Given the description of an element on the screen output the (x, y) to click on. 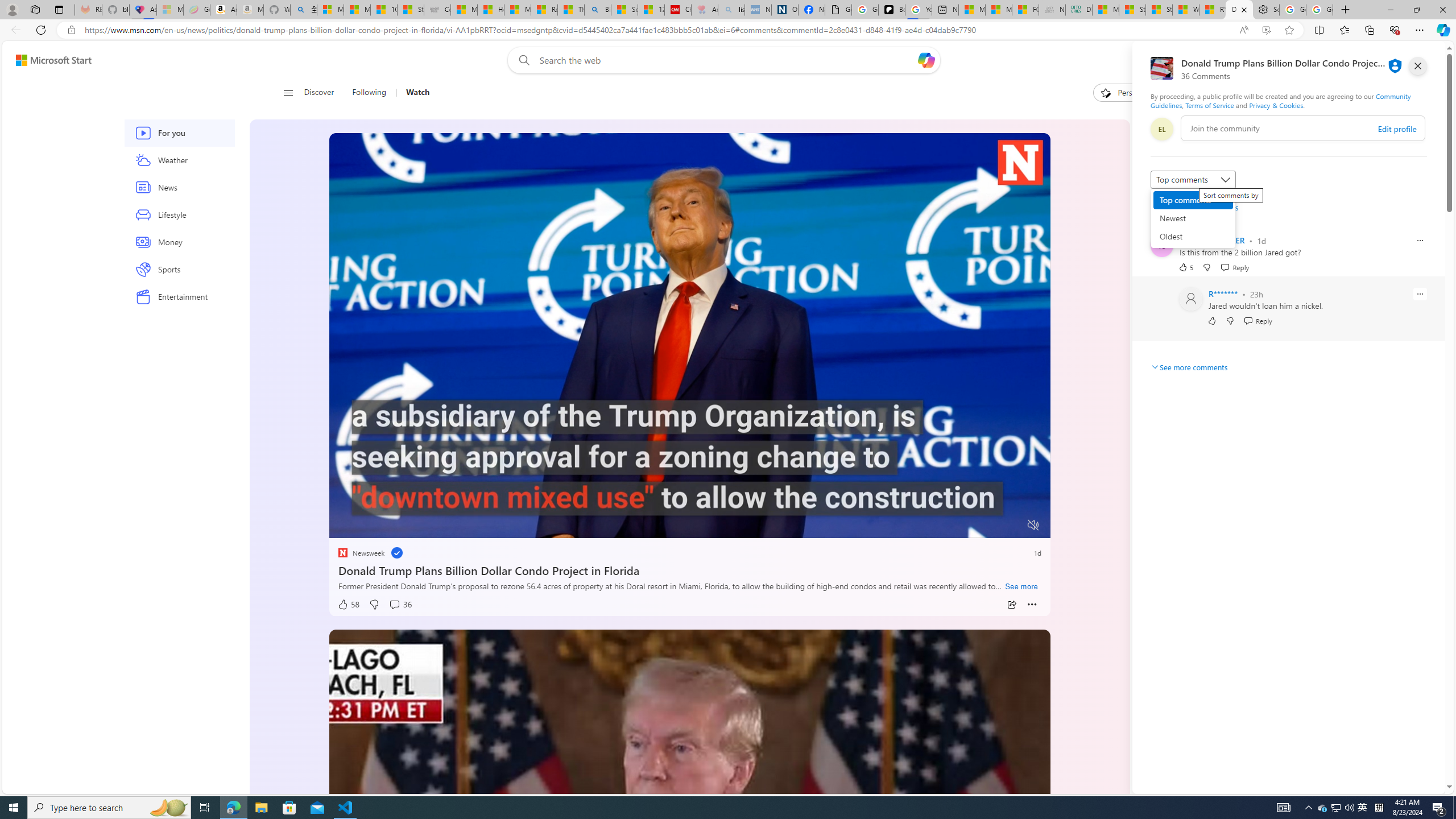
Feedback (1402, 784)
Notifications (1397, 60)
To get missing image descriptions, open the context menu. (368, 524)
Pause (346, 525)
Sort comments by (1193, 179)
placeholder Newsweek (360, 552)
